Given the description of an element on the screen output the (x, y) to click on. 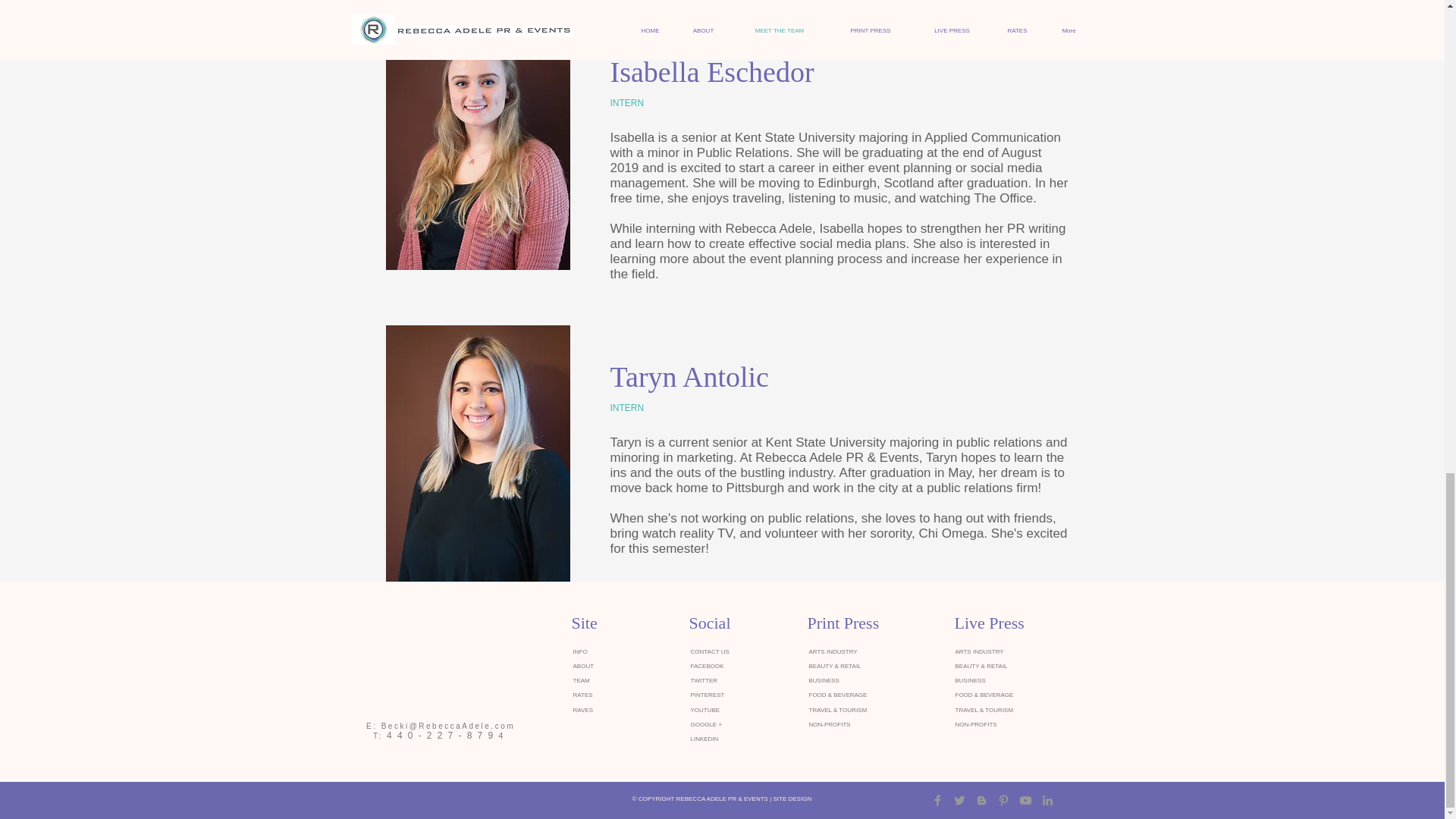
INFO (580, 651)
LINKEDIN (703, 738)
TEAM (581, 680)
ABOUT (583, 665)
FACEBOOK (706, 665)
YOUTUBE (704, 709)
CONTACT US (709, 651)
PINTEREST (706, 694)
TWITTER (703, 680)
RAVES (583, 709)
RATES (582, 694)
